Given the description of an element on the screen output the (x, y) to click on. 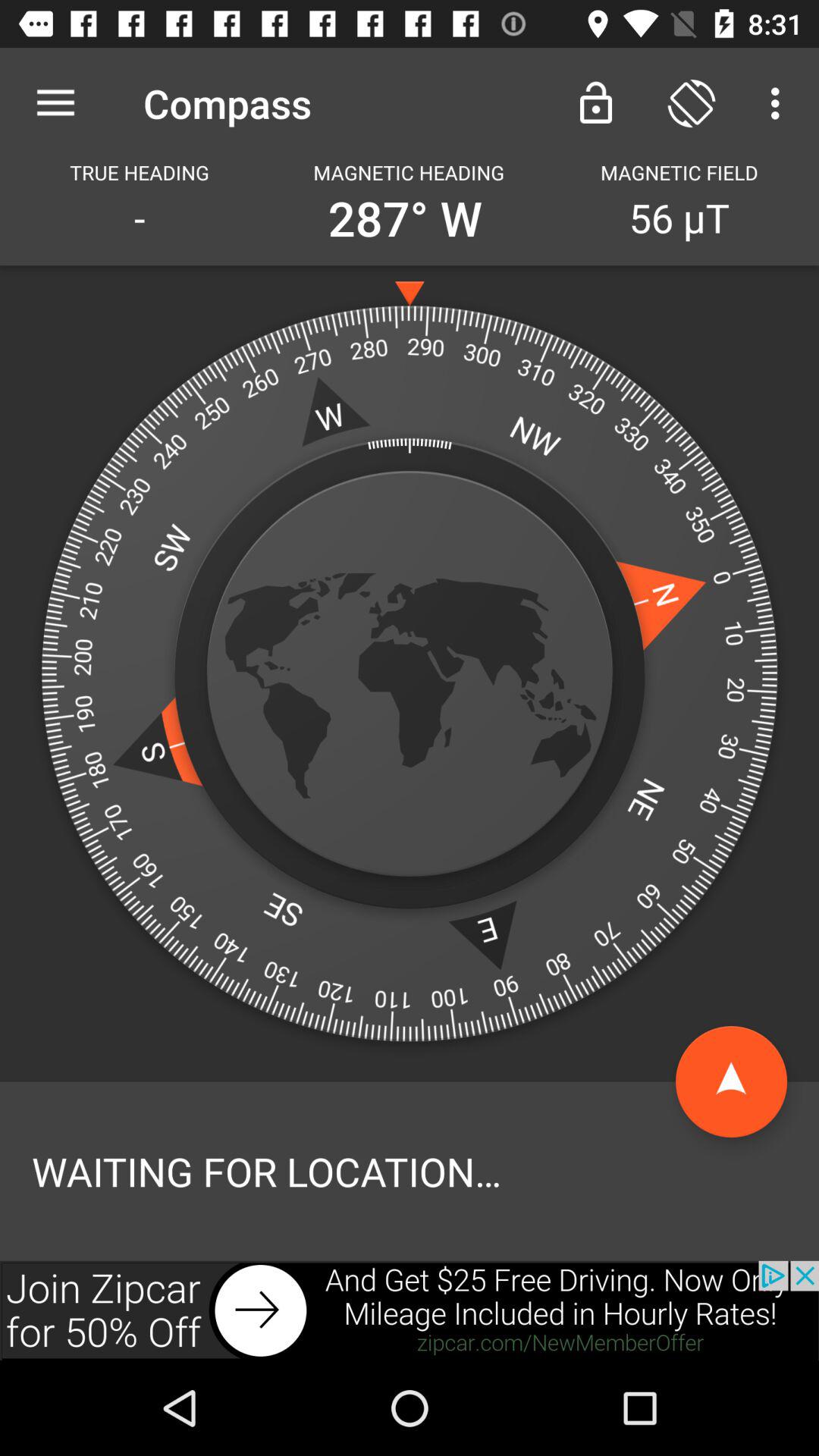
click on advertisement (409, 1310)
